Given the description of an element on the screen output the (x, y) to click on. 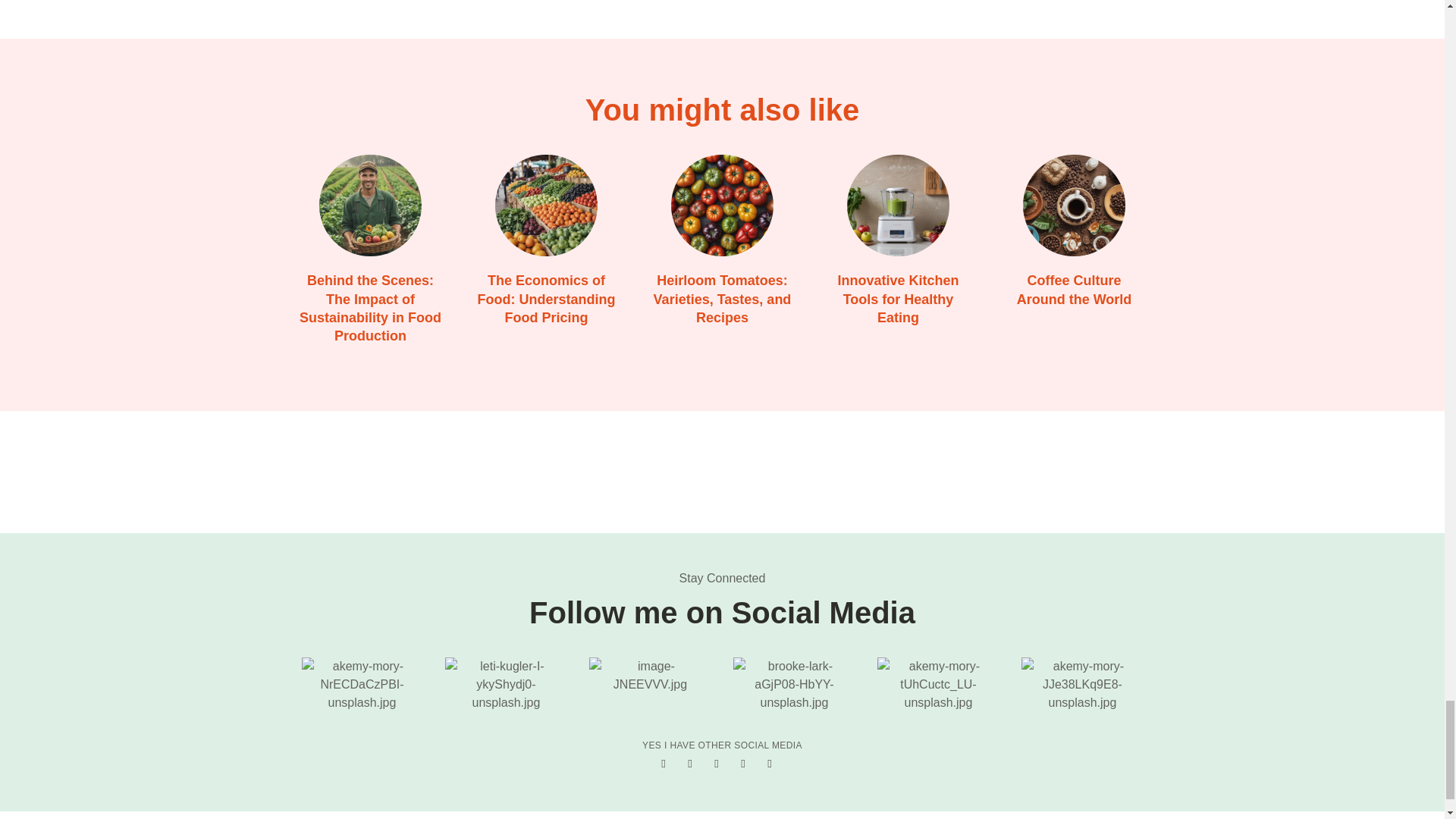
The Economics of Food: Understanding Food Pricing (544, 205)
image-JNEEVVV.jpg (649, 675)
Heirloom Tomatoes: Varieties, Tastes, and Recipes (721, 205)
Coffee Culture Around the World (1073, 205)
akemy-mory-JJe38LKq9E8-unsplash.jpg (1082, 684)
brooke-lark-aGjP08-HbYY-unsplash.jpg (793, 684)
Innovative Kitchen Tools for Healthy Eating (897, 205)
The Economics of Food: Understanding Food Pricing (546, 298)
Heirloom Tomatoes: Varieties, Tastes, and Recipes (722, 298)
akemy-mory-NrECDaCzPBI-unsplash.jpg (362, 684)
leti-kugler-I-ykyShydj0-unsplash.jpg (505, 684)
Coffee Culture Around the World (1074, 289)
Innovative Kitchen Tools for Healthy Eating (897, 298)
